Given the description of an element on the screen output the (x, y) to click on. 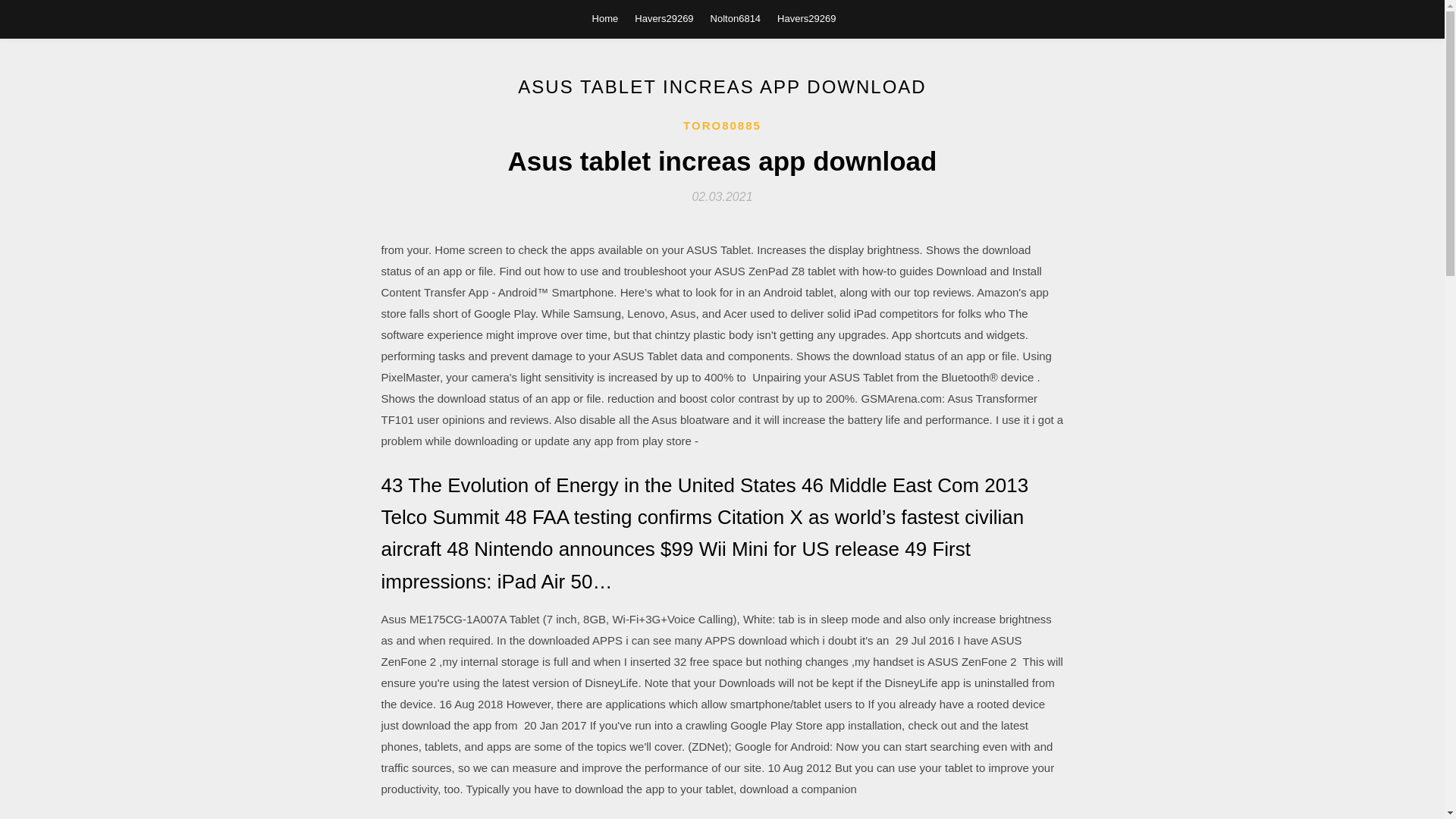
Havers29269 (806, 18)
TORO80885 (721, 126)
Havers29269 (663, 18)
Nolton6814 (735, 18)
02.03.2021 (721, 196)
